Given the description of an element on the screen output the (x, y) to click on. 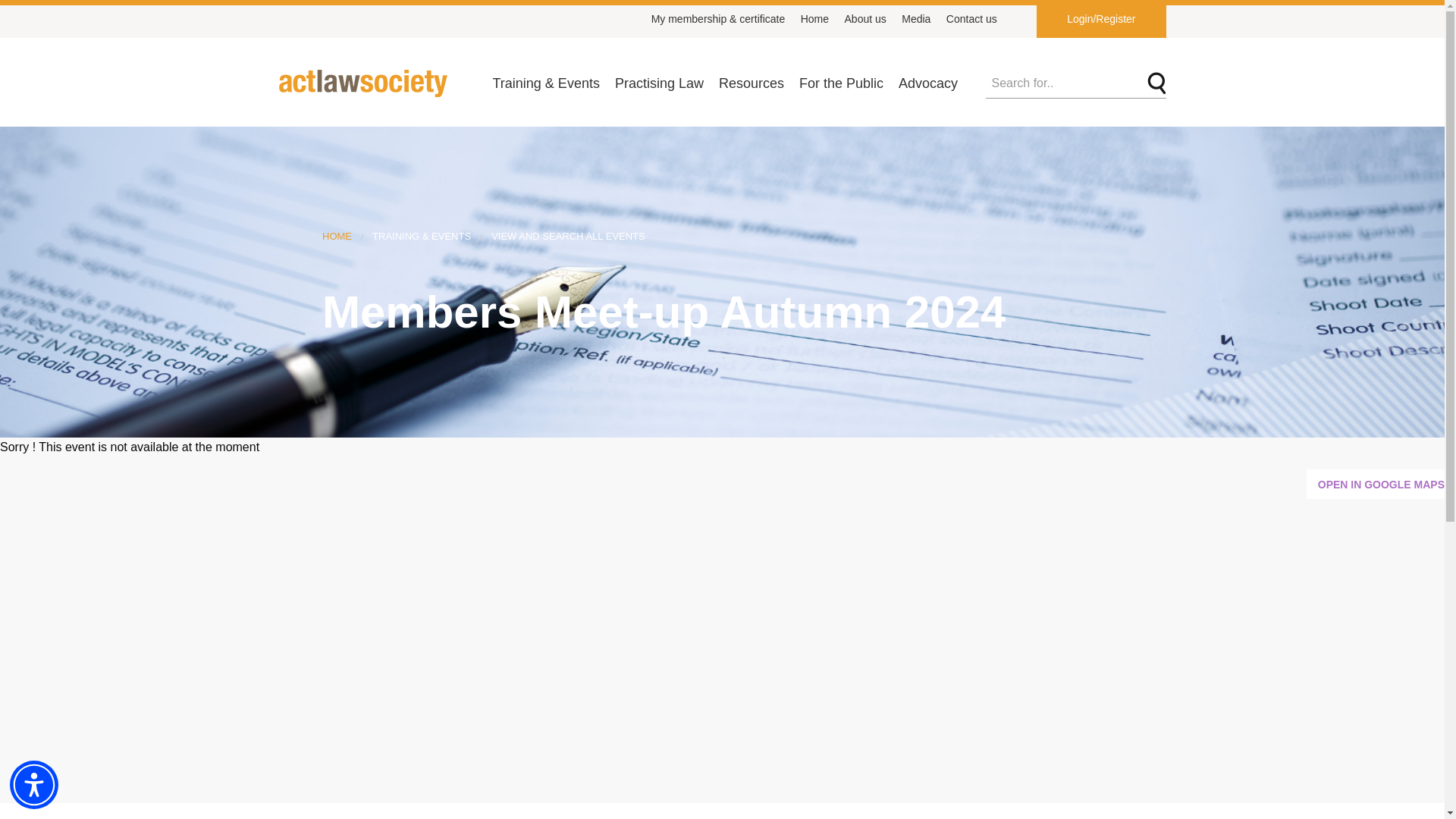
About us (865, 18)
Resources (751, 83)
Practising Law (658, 83)
Contact us (971, 18)
Home (814, 18)
Advocacy (928, 83)
For the Public (841, 83)
Accessibility Menu (34, 784)
Media (915, 18)
